Given the description of an element on the screen output the (x, y) to click on. 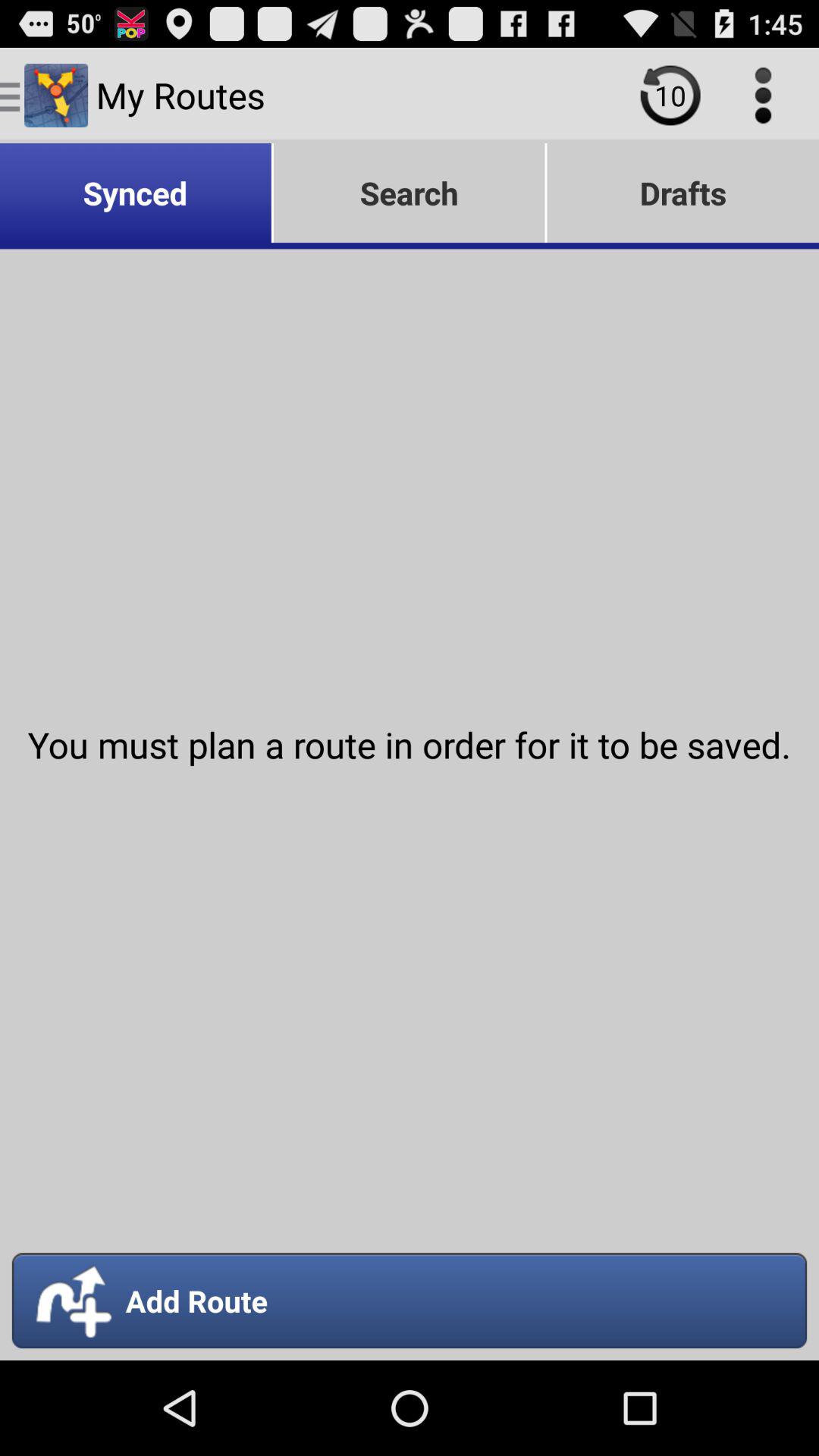
turn off the item to the right of the my routes icon (670, 95)
